Given the description of an element on the screen output the (x, y) to click on. 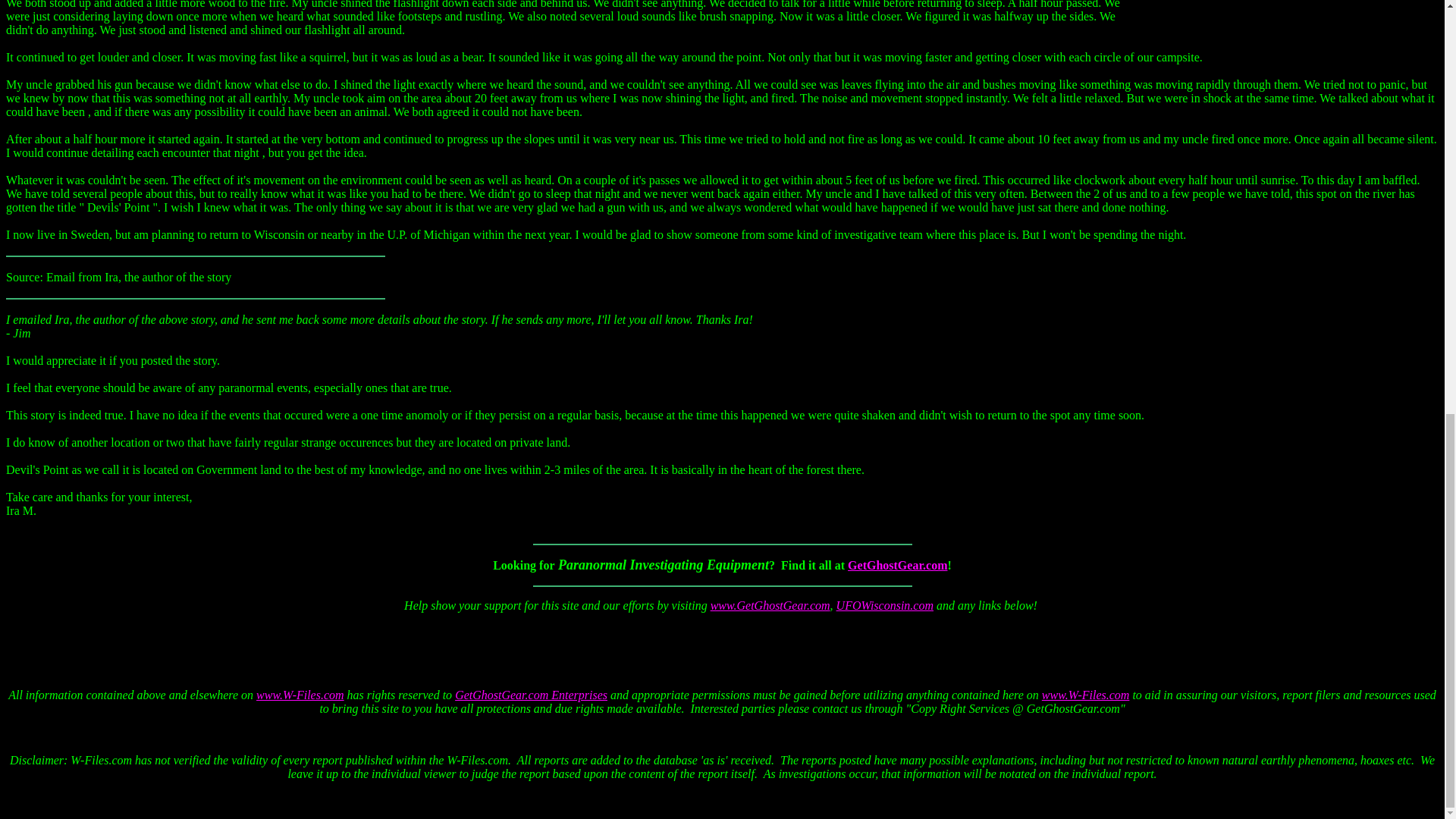
www.W-Files.com (299, 694)
www.W-Files.com (1085, 694)
www.GetGhostGear.com (769, 604)
GetGhostGear.com Enterprises (530, 694)
UFOWisconsin.com (884, 604)
GetGhostGear.com (897, 564)
